Given the description of an element on the screen output the (x, y) to click on. 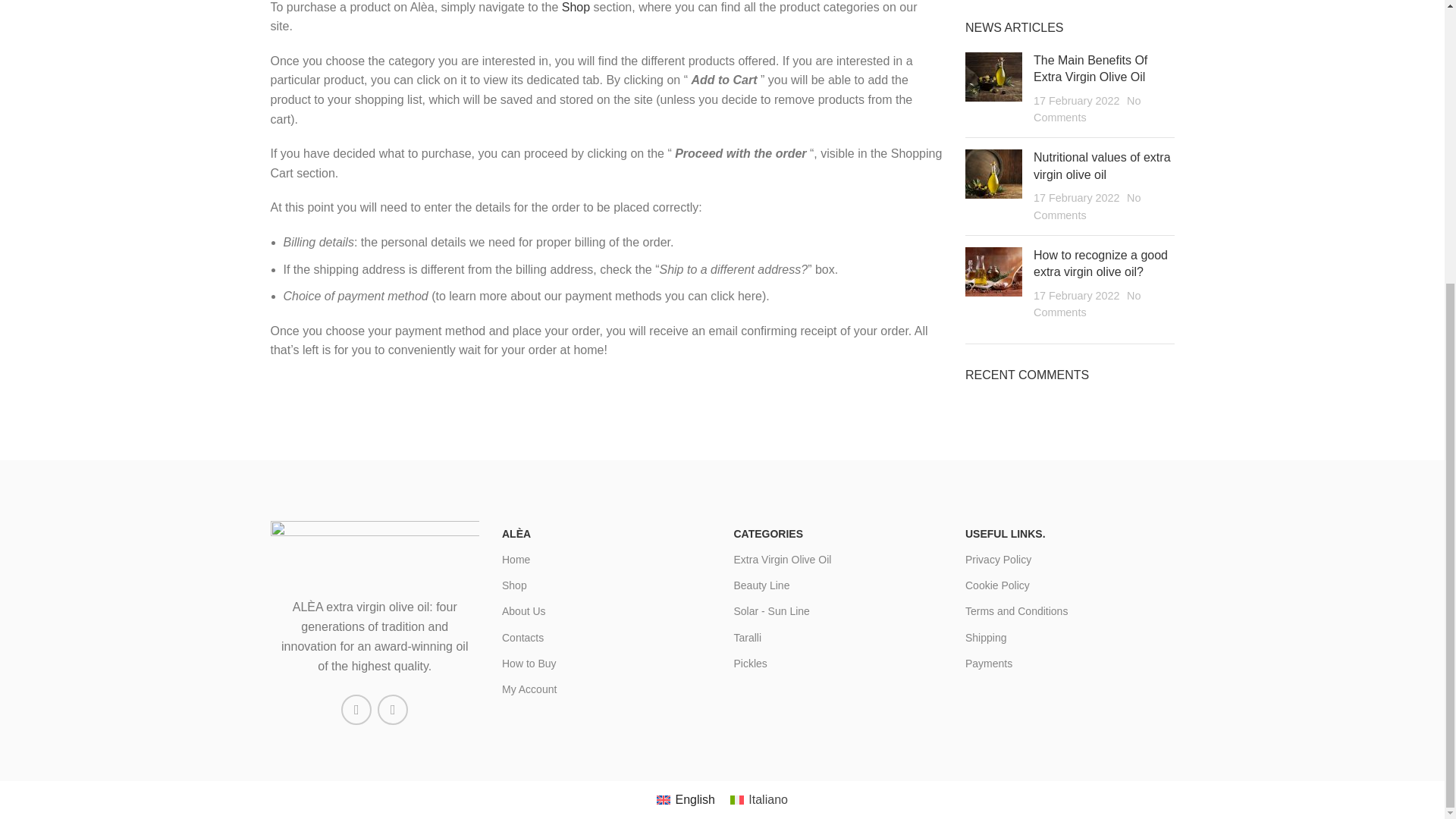
The Main Benefits Of Extra Virgin Olive Oil (1090, 68)
No Comments (1086, 205)
Home (606, 559)
How to recognize a good extra virgin olive oil? (1100, 263)
Nutritional values of extra virgin olive oil (1101, 165)
Permalink to Nutritional values of extra virgin olive oil (1101, 165)
No Comments (1086, 109)
Shop (575, 6)
Permalink to How to recognize a good extra virgin olive oil? (1100, 263)
Permalink to The Main Benefits Of Extra Virgin Olive Oil (1090, 68)
